Given the description of an element on the screen output the (x, y) to click on. 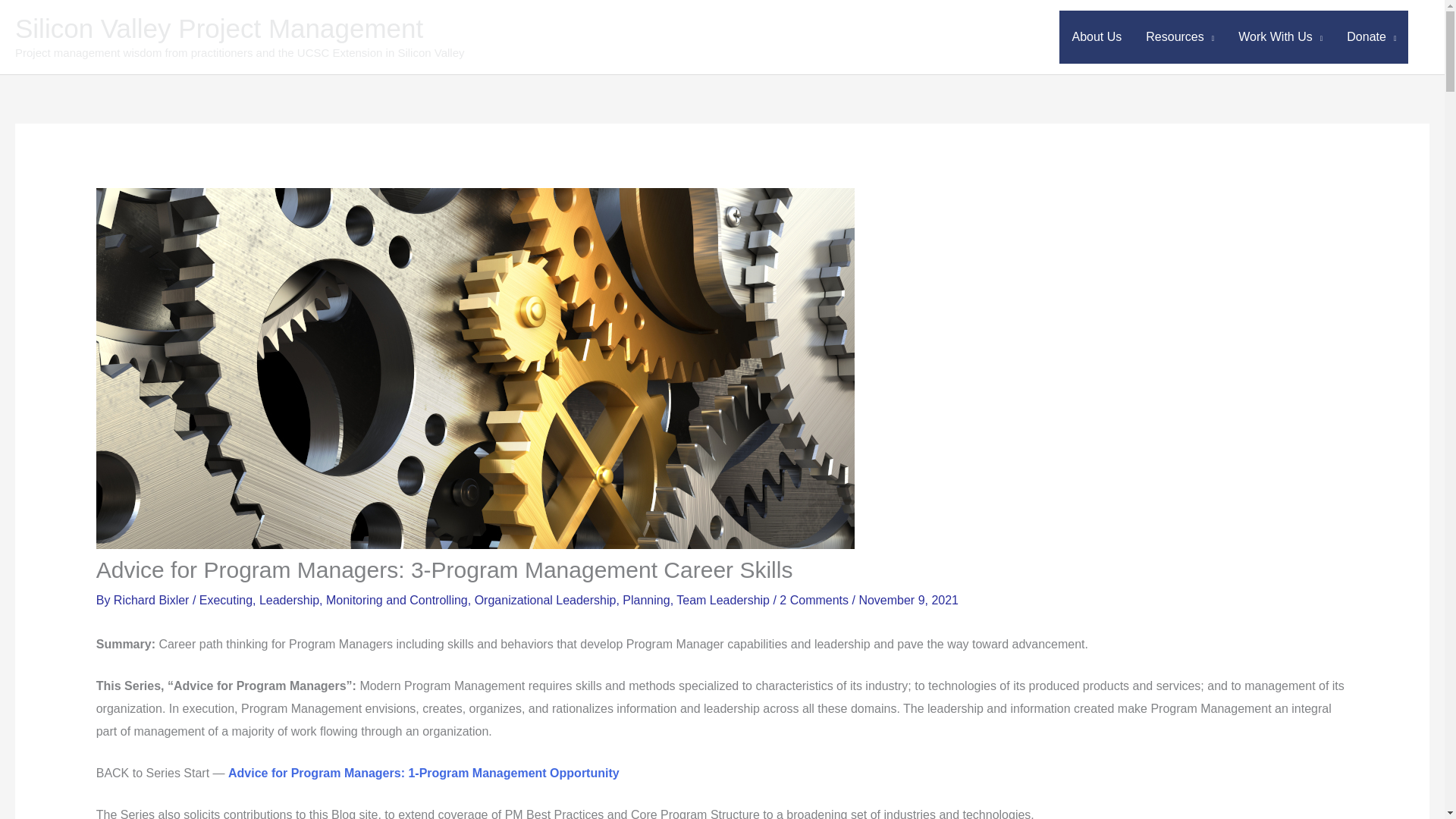
Leadership (288, 599)
Executing (225, 599)
Silicon Valley Project Management (218, 28)
View all posts by Richard Bixler (152, 599)
Work With Us (1280, 36)
Resources (1179, 36)
Richard Bixler (152, 599)
About Us (1096, 36)
Donate (1371, 36)
Monitoring and Controlling (396, 599)
